Given the description of an element on the screen output the (x, y) to click on. 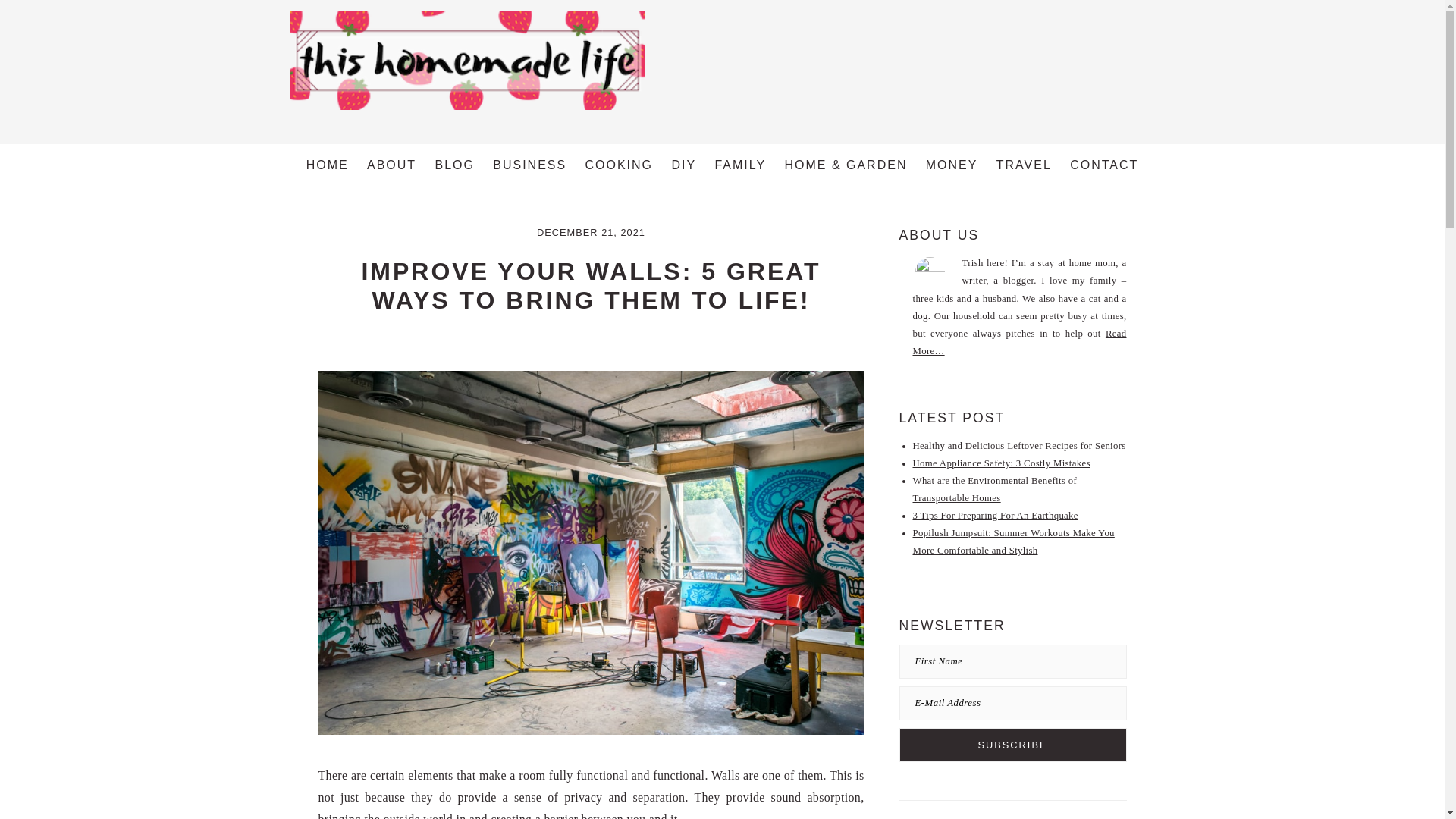
Healthy and Delicious Leftover Recipes for Seniors (1018, 445)
TRAVEL (1023, 165)
MONEY (951, 165)
BUSINESS (528, 165)
Home Appliance Safety: 3 Costly Mistakes (1001, 462)
COOKING (619, 165)
This Home Made Life (467, 112)
Subscribe (1012, 745)
CONTACT (1103, 165)
